Given the description of an element on the screen output the (x, y) to click on. 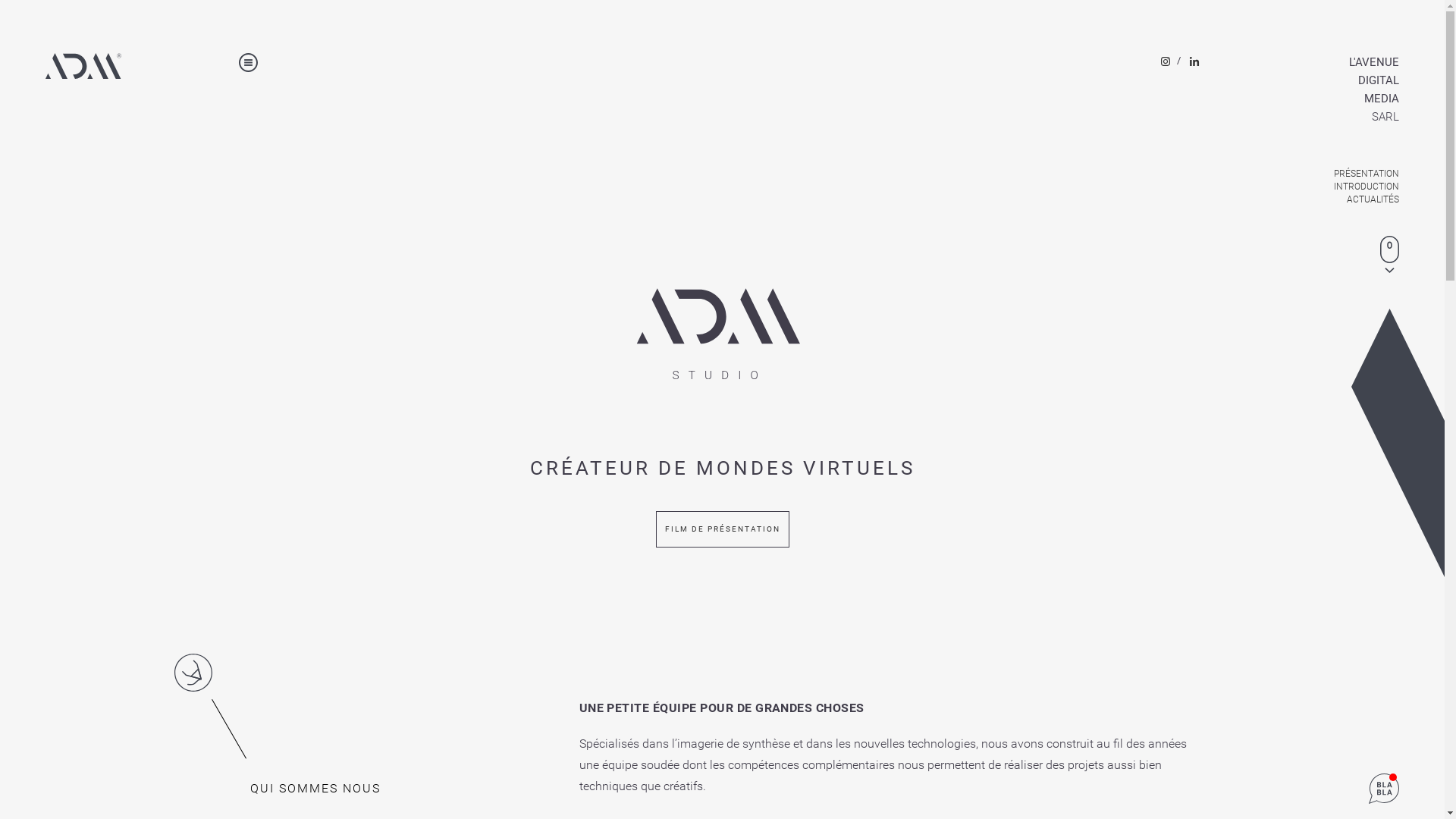
INTRODUCTION Element type: text (1330, 186)
